Given the description of an element on the screen output the (x, y) to click on. 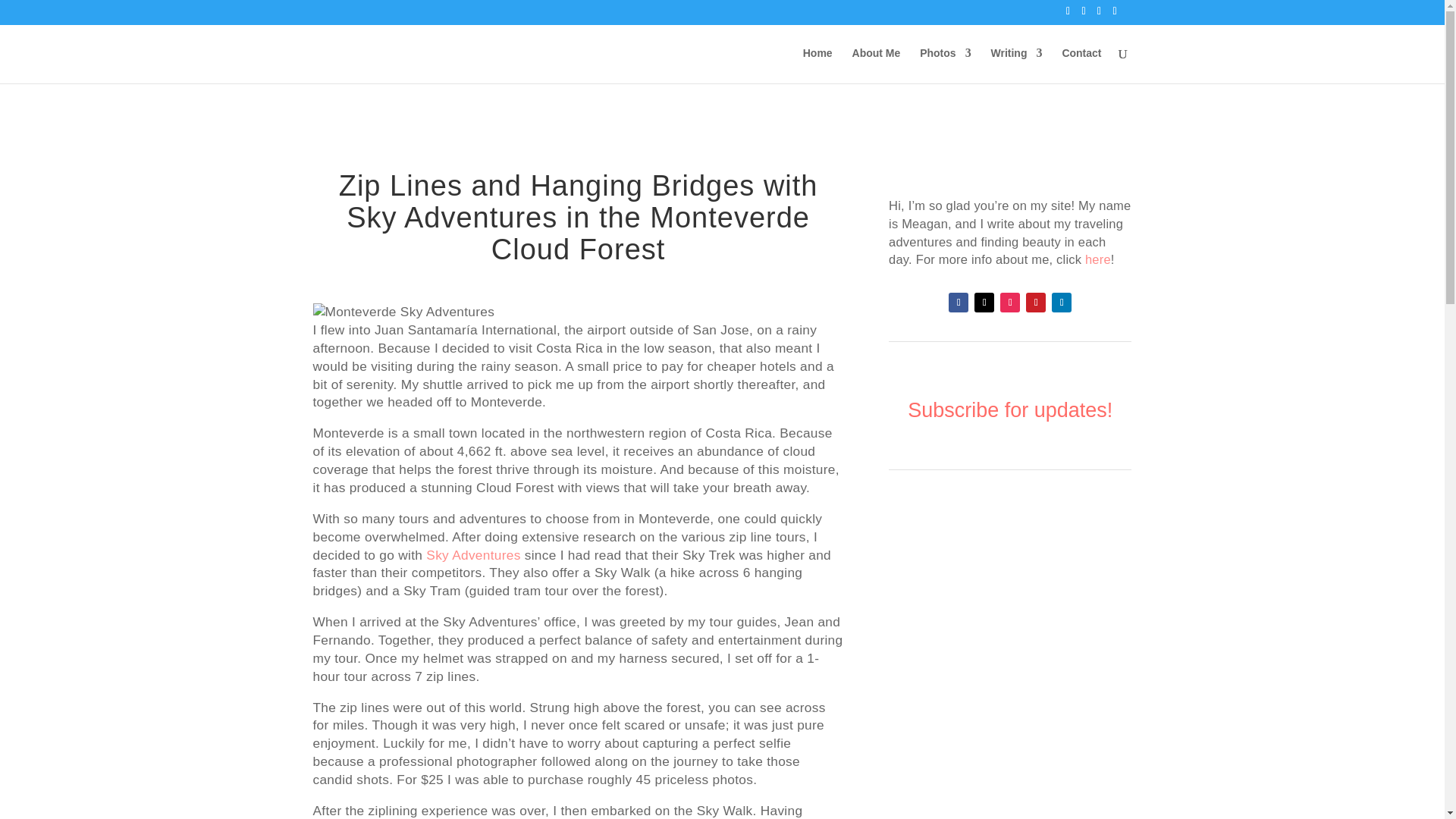
Follow on LinkedIn (1061, 302)
Photos (945, 65)
Follow on Pinterest (1035, 302)
About Me (876, 65)
Writing (1016, 65)
here (1097, 259)
Follow on X (984, 302)
Follow on Instagram (1010, 302)
Contact (1080, 65)
Sky Adventures (472, 554)
